Given the description of an element on the screen output the (x, y) to click on. 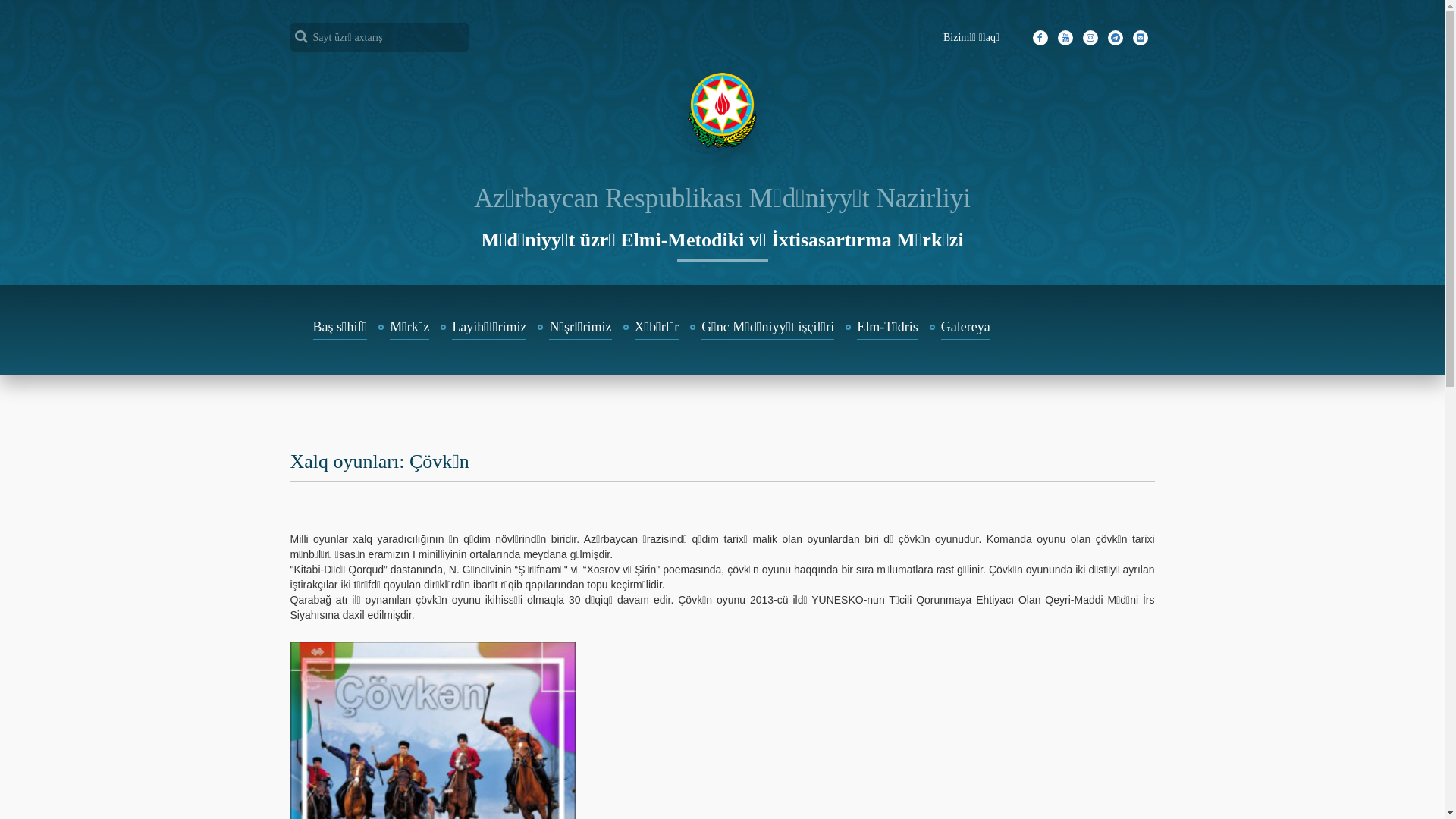
Galereya Element type: text (965, 329)
